Given the description of an element on the screen output the (x, y) to click on. 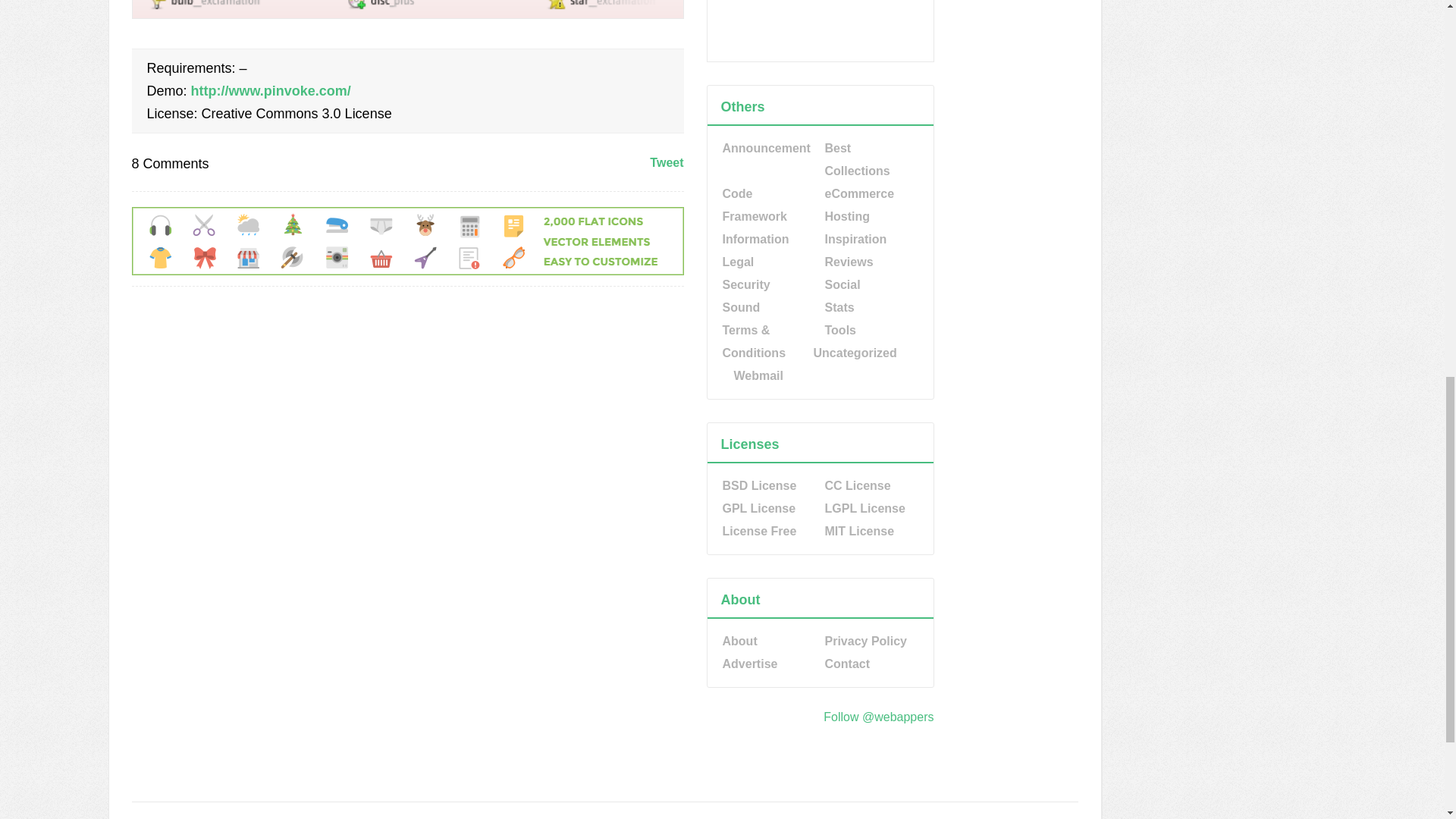
Mini Icons Set - Fugue Icons (408, 14)
Tweet (665, 162)
Advertisement (820, 29)
mini-icons (408, 9)
flat icons (408, 270)
